Given the description of an element on the screen output the (x, y) to click on. 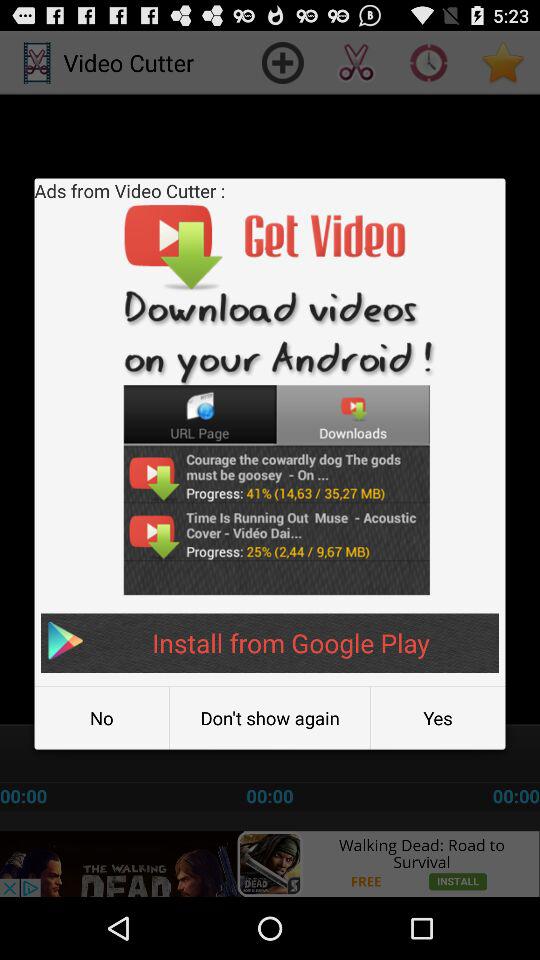
go to advertisement (270, 864)
